Given the description of an element on the screen output the (x, y) to click on. 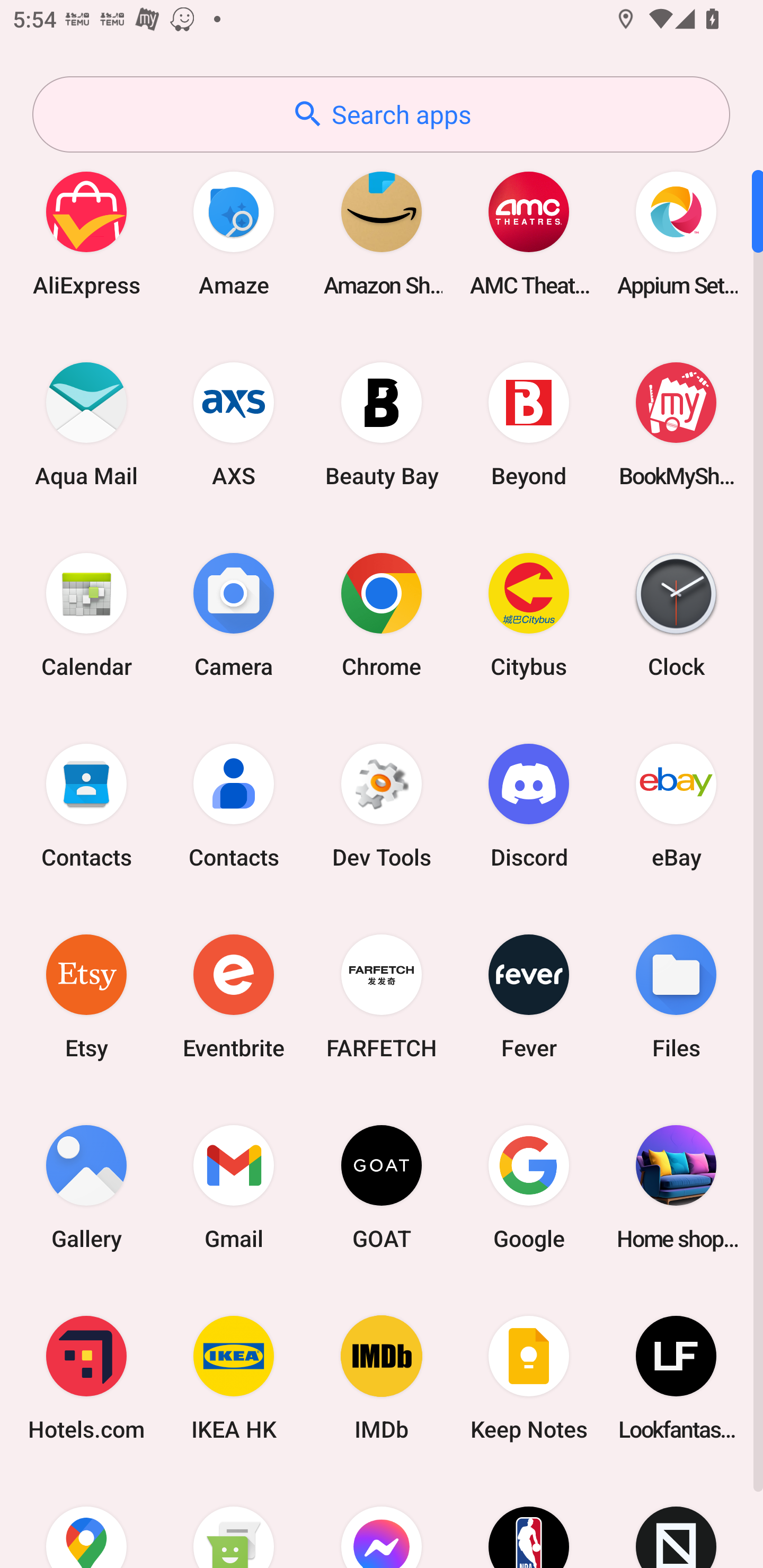
  Search apps (381, 114)
AliExpress (86, 233)
Amaze (233, 233)
Amazon Shopping (381, 233)
AMC Theatres (528, 233)
Appium Settings (676, 233)
Aqua Mail (86, 424)
AXS (233, 424)
Beauty Bay (381, 424)
Beyond (528, 424)
BookMyShow (676, 424)
Calendar (86, 614)
Camera (233, 614)
Chrome (381, 614)
Citybus (528, 614)
Clock (676, 614)
Contacts (86, 805)
Contacts (233, 805)
Dev Tools (381, 805)
Discord (528, 805)
eBay (676, 805)
Etsy (86, 996)
Eventbrite (233, 996)
FARFETCH (381, 996)
Fever (528, 996)
Files (676, 996)
Gallery (86, 1186)
Gmail (233, 1186)
GOAT (381, 1186)
Google (528, 1186)
Home shopping (676, 1186)
Hotels.com (86, 1377)
IKEA HK (233, 1377)
IMDb (381, 1377)
Keep Notes (528, 1377)
Lookfantastic (676, 1377)
Maps (86, 1520)
Messaging (233, 1520)
Messenger (381, 1520)
NBA (528, 1520)
Novelship (676, 1520)
